Given the description of an element on the screen output the (x, y) to click on. 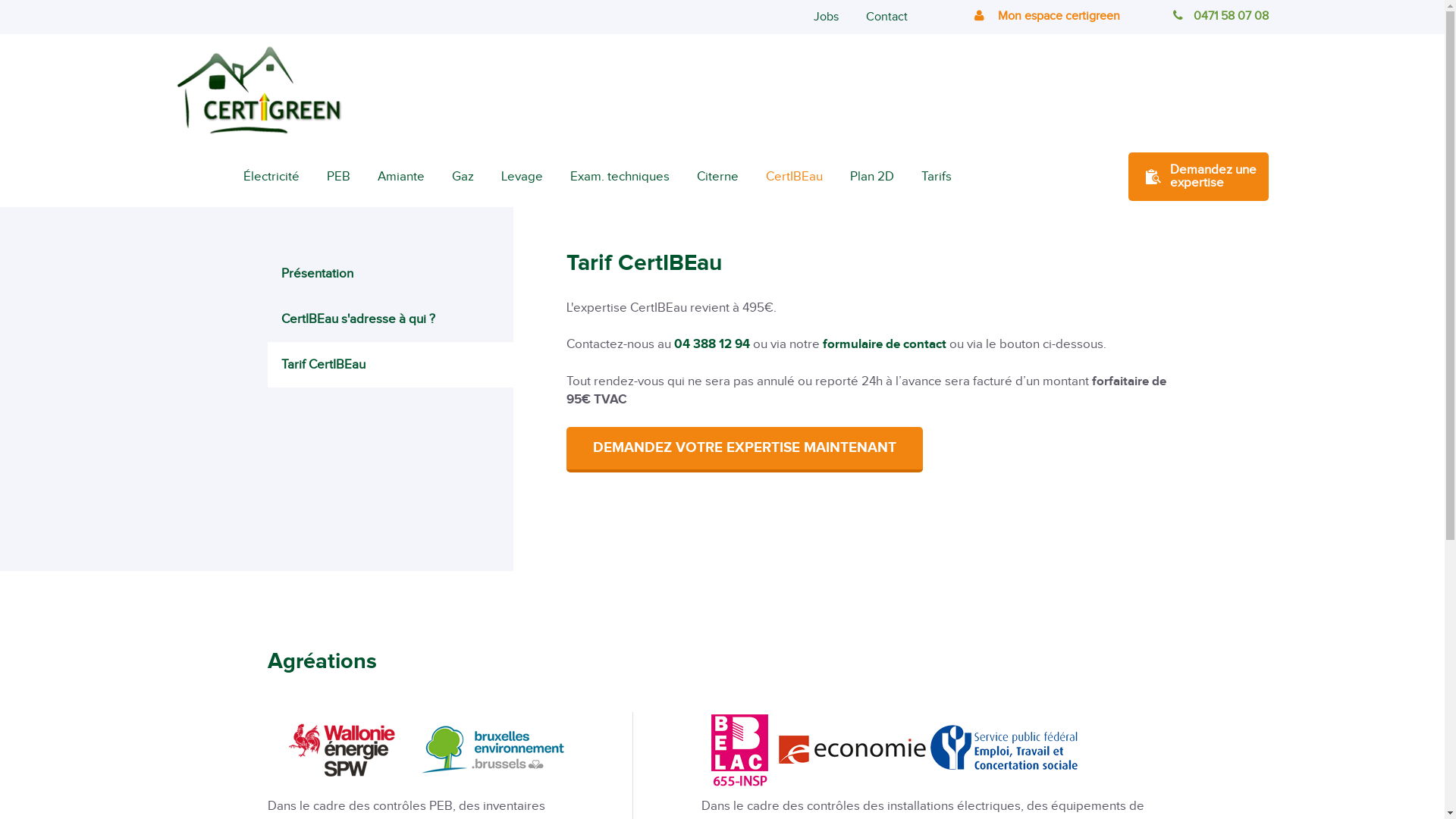
0471 58 07 08 Element type: text (1219, 16)
Gaz Element type: text (462, 176)
Demandez une expertise Element type: text (1198, 176)
DEMANDEZ VOTRE EXPERTISE MAINTENANT Element type: text (743, 448)
Jobs Element type: text (825, 16)
04 388 12 94 Element type: text (711, 343)
CertIBEau Element type: text (794, 176)
Tarif CertIBEau Element type: text (389, 364)
formulaire de contact Element type: text (883, 343)
PEB Element type: text (337, 176)
Contact Element type: text (886, 16)
Exam. techniques Element type: text (619, 176)
Citerne Element type: text (716, 176)
Amiante Element type: text (401, 176)
Plan 2D Element type: text (870, 176)
Tarifs Element type: text (935, 176)
Levage Element type: text (520, 176)
Mon espace certigreen Element type: text (1046, 16)
